Given the description of an element on the screen output the (x, y) to click on. 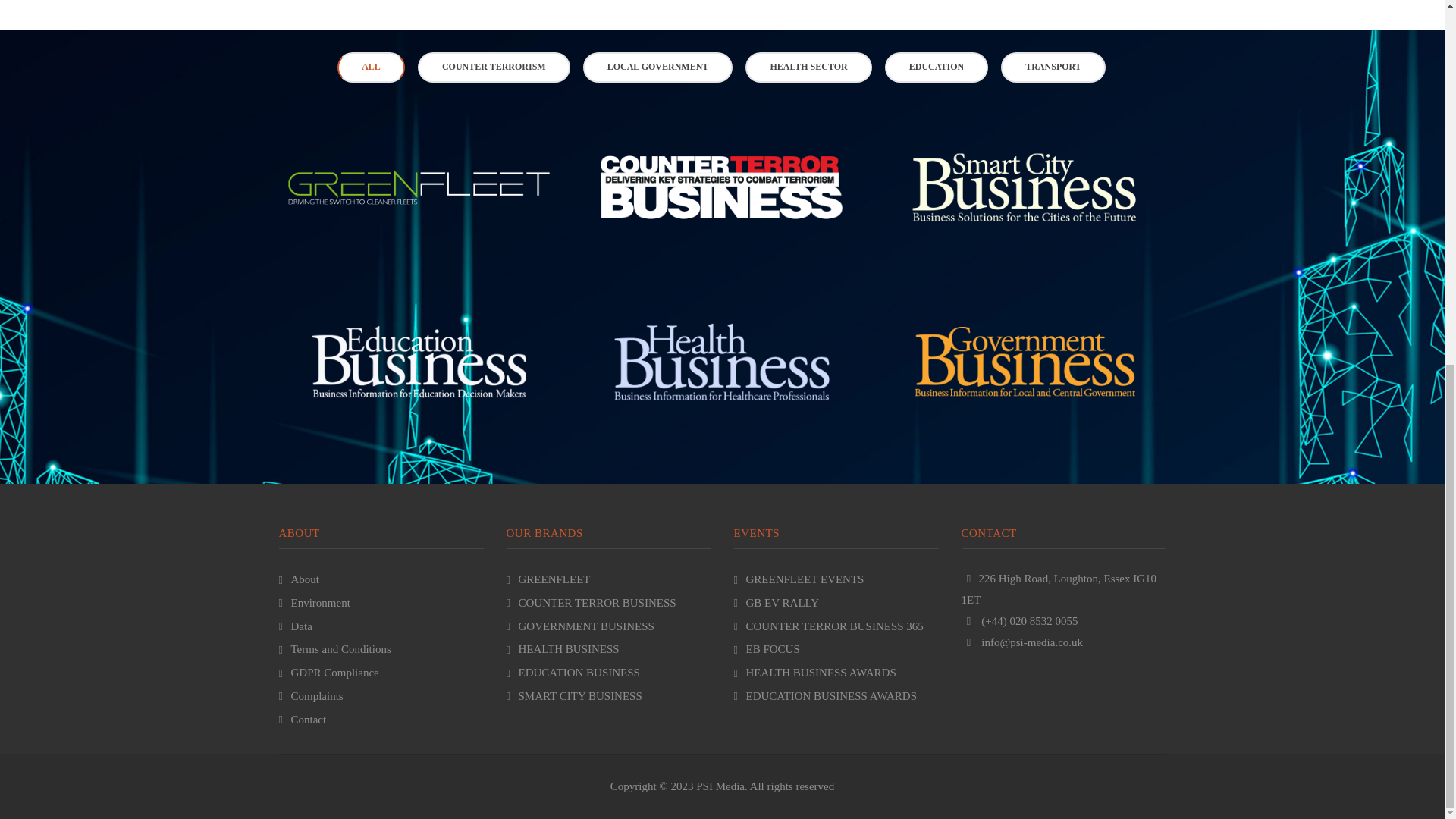
About (299, 579)
ALL (370, 67)
GDPR Compliance (328, 672)
Contact (302, 719)
GOVERNMENT BUSINESS (579, 625)
Terms and Conditions (335, 648)
Complaints (311, 695)
Environment (314, 603)
LOCAL GOVERNMENT (658, 67)
EDUCATION BUSINESS (573, 672)
COUNTER TERRORISM (493, 67)
HEALTH BUSINESS (563, 648)
EDUCATION (936, 67)
TRANSPORT (1053, 67)
GREENFLEET (548, 579)
